Given the description of an element on the screen output the (x, y) to click on. 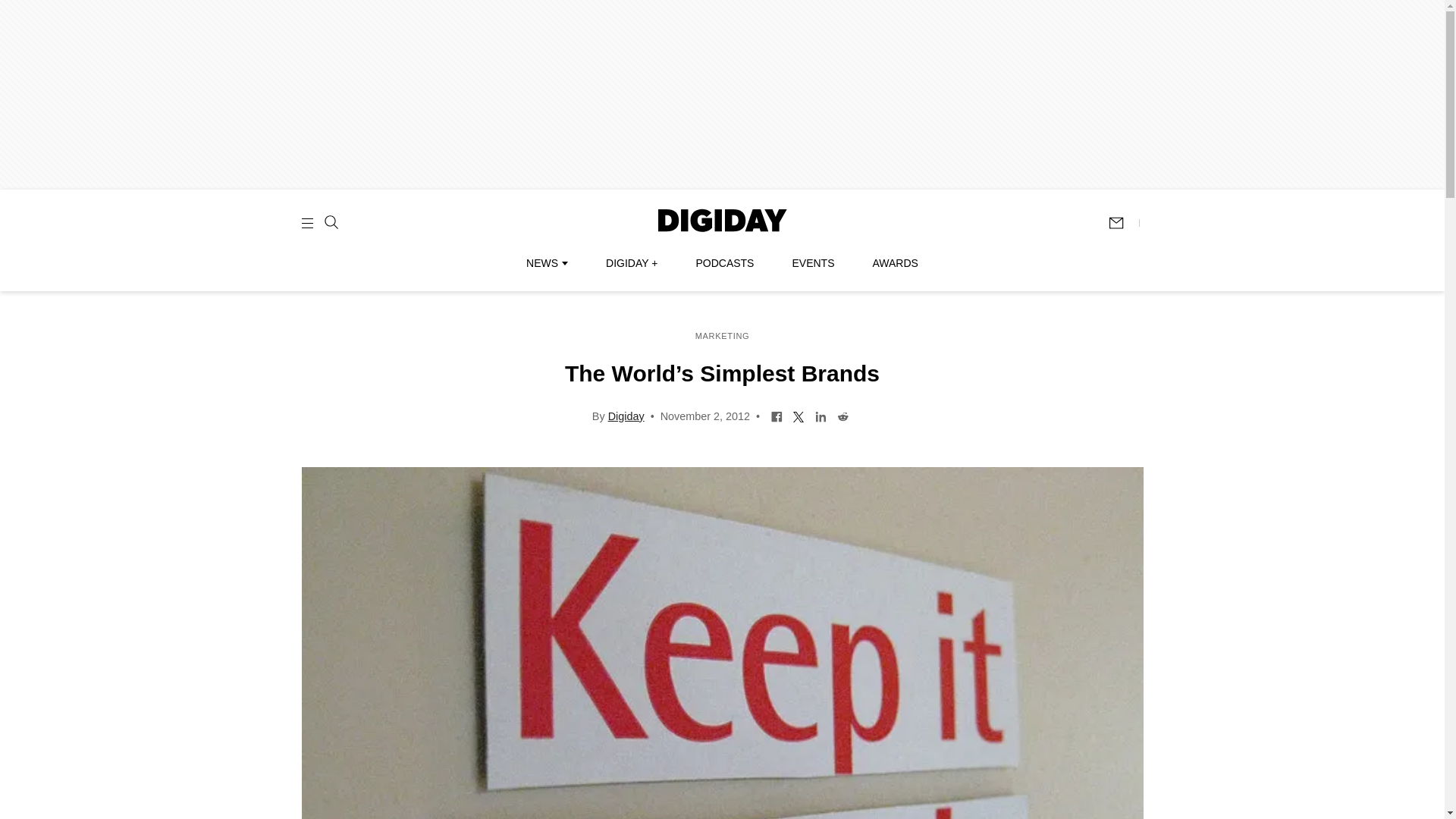
AWARDS (894, 262)
NEWS (546, 262)
Share on LinkedIn (820, 415)
Share on Reddit (841, 415)
Subscribe (1123, 223)
EVENTS (813, 262)
Share on Facebook (776, 415)
Share on Twitter (798, 415)
PODCASTS (725, 262)
